Given the description of an element on the screen output the (x, y) to click on. 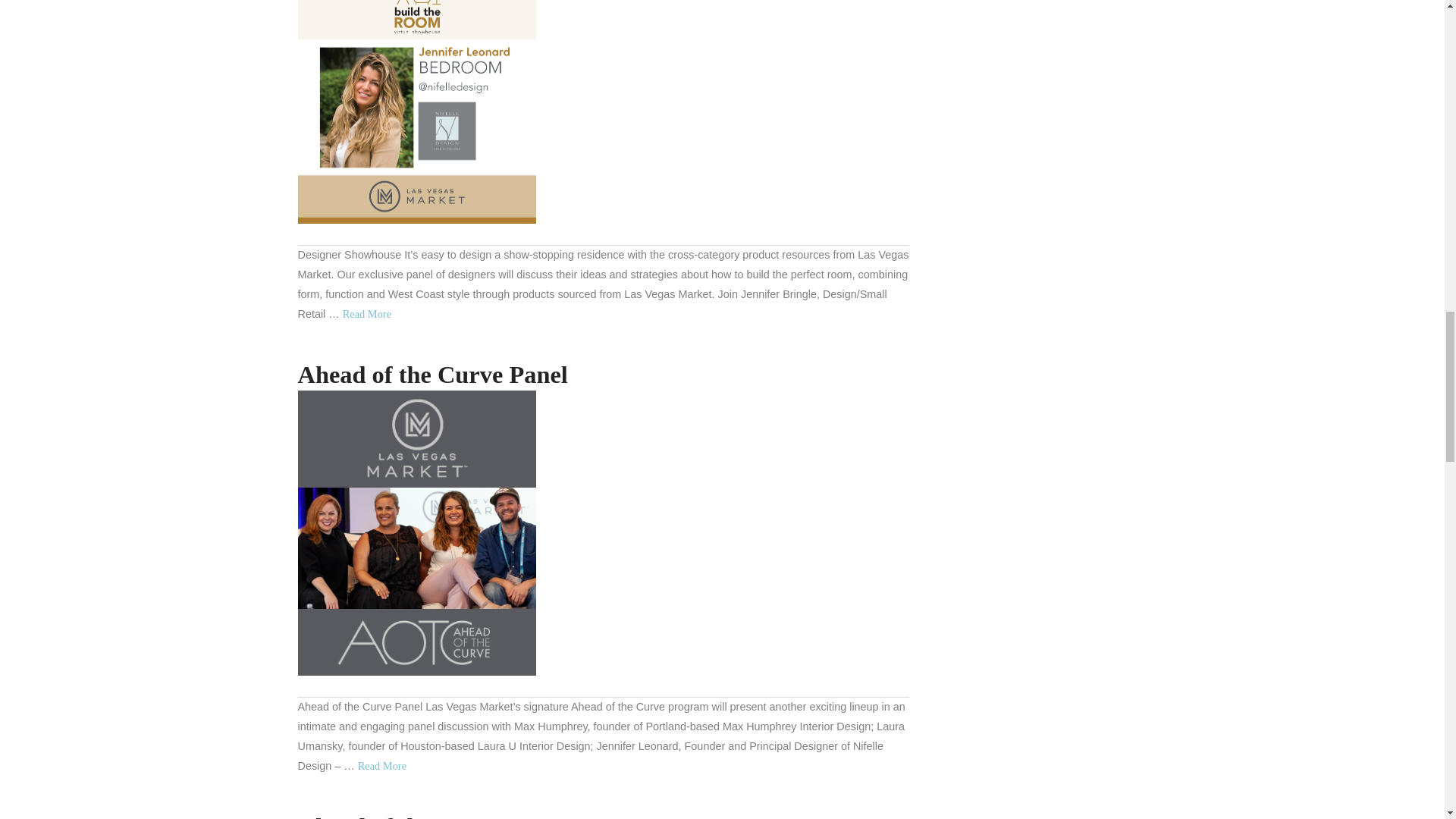
Ahead of the Curve Panel (432, 374)
Read More (366, 313)
Ahead of the Curve Panel (382, 766)
Ahead of the Curve Panel (416, 532)
Designer Showhouse (366, 313)
Read More (382, 766)
Ahead of the Curve Tour (428, 816)
Designer Showhouse (416, 111)
